Given the description of an element on the screen output the (x, y) to click on. 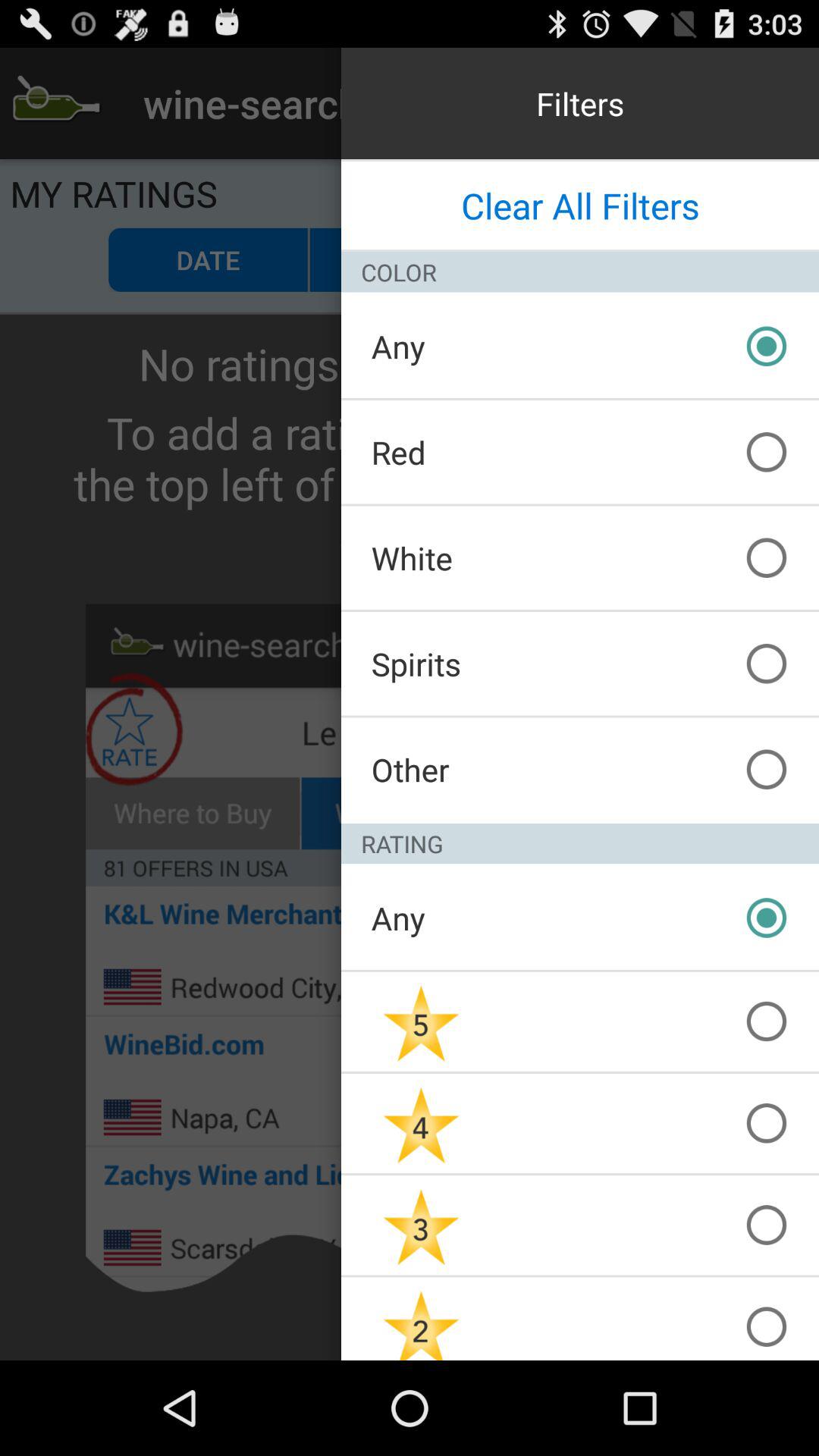
go to 5star rating radio button (420, 1021)
click on star 2 icon at bottom of the page (420, 1318)
click the button below the filters on the web page (580, 204)
